Given the description of an element on the screen output the (x, y) to click on. 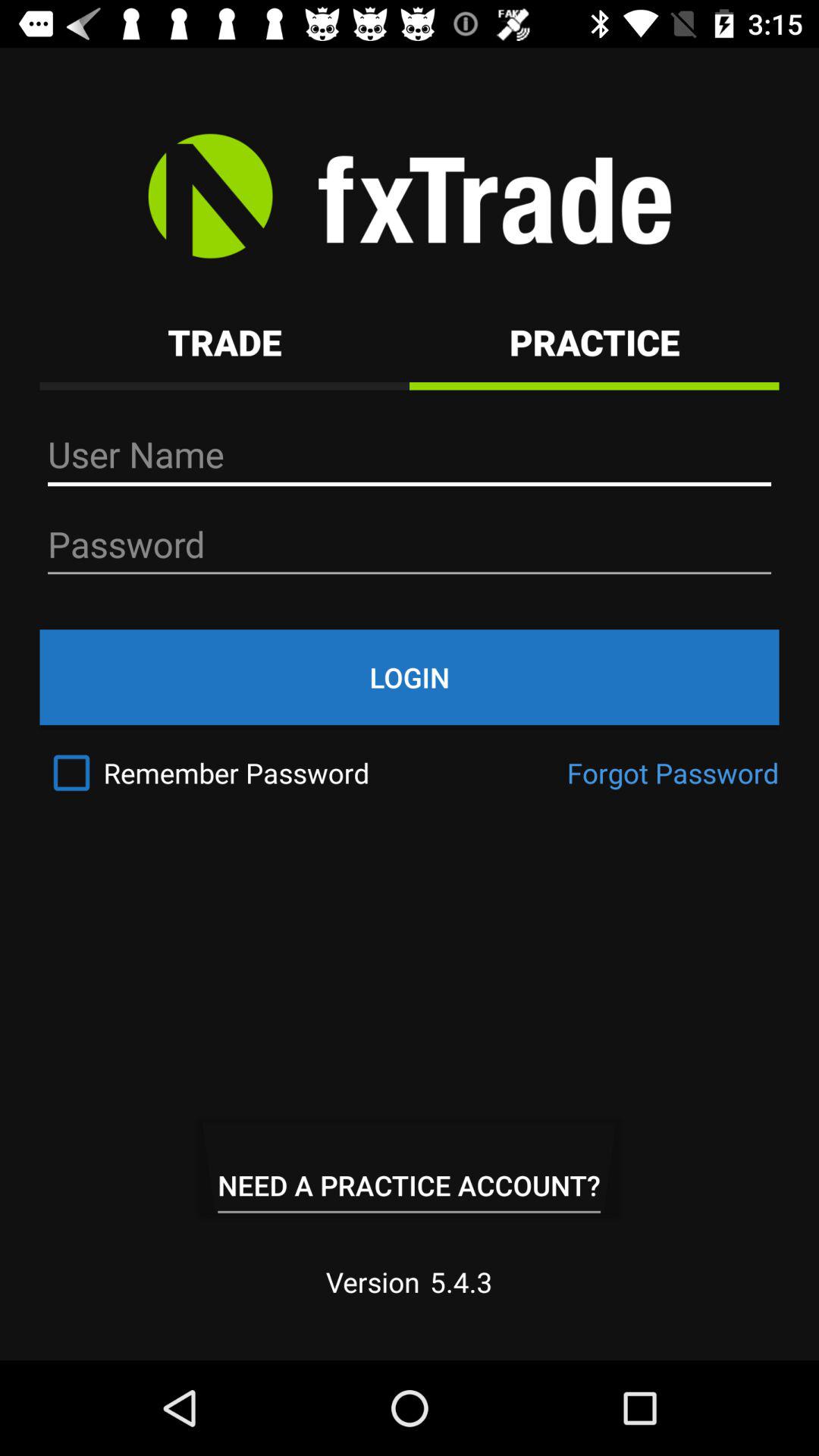
click on practice (594, 342)
click on the text field of user name (409, 454)
select the text box which says password (409, 544)
click on the button which is next to the remember password (673, 773)
click on trade (224, 342)
